Given the description of an element on the screen output the (x, y) to click on. 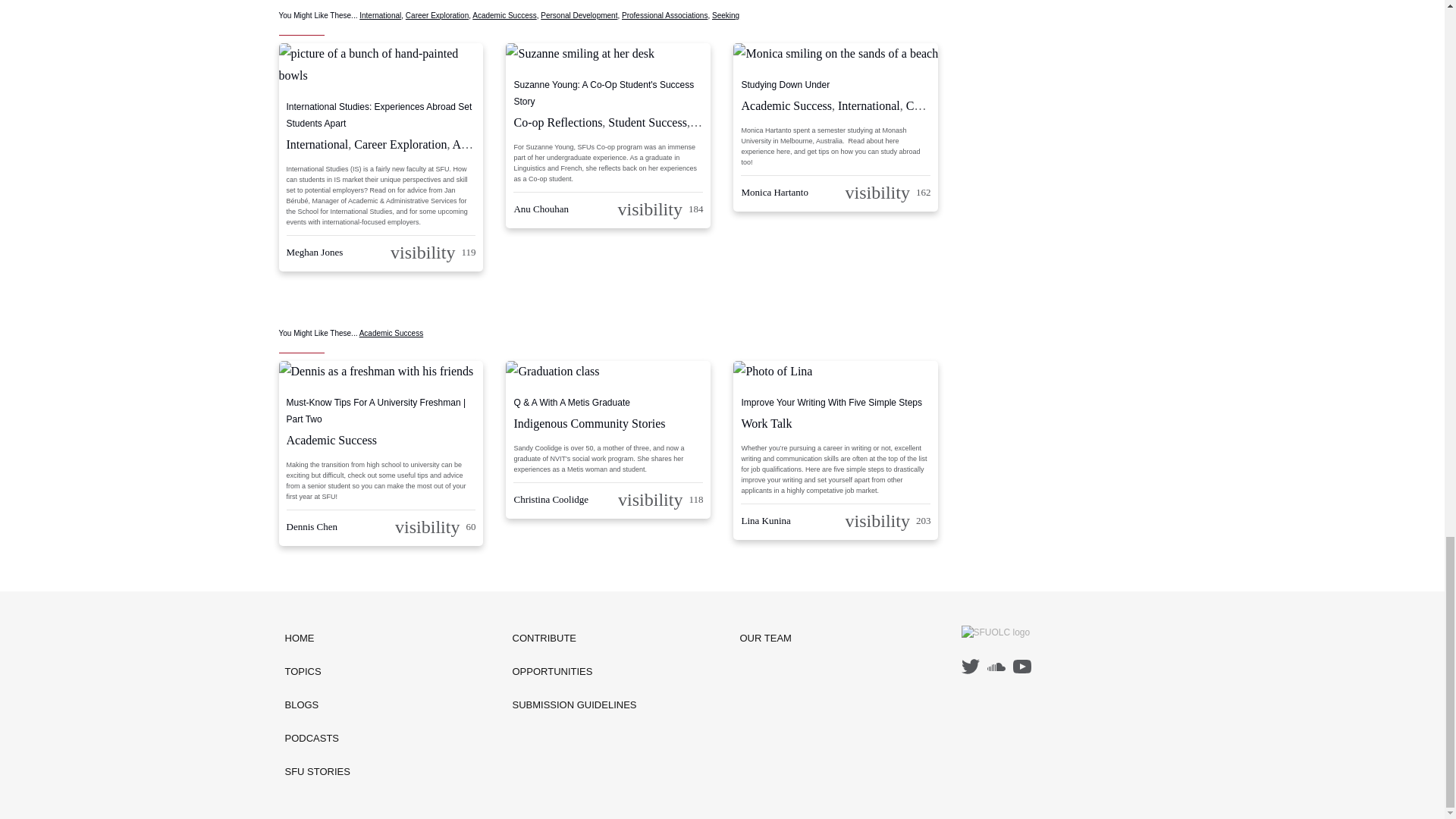
OLC Blogs (317, 704)
Contribute to the OLC (574, 638)
